Given the description of an element on the screen output the (x, y) to click on. 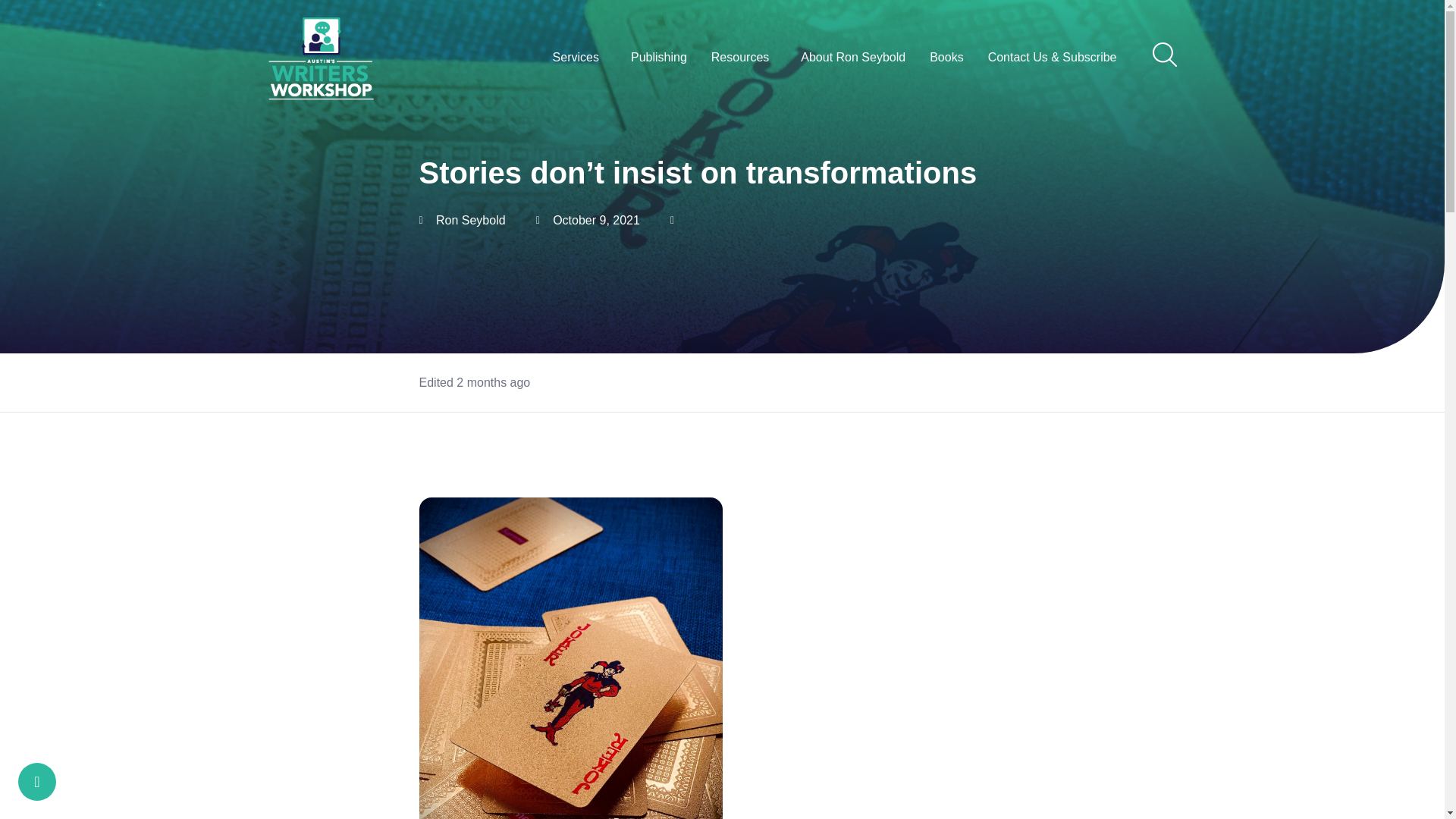
Books (946, 57)
Resources (743, 57)
Services (579, 57)
About Ron Seybold (852, 57)
Publishing (658, 57)
